Given the description of an element on the screen output the (x, y) to click on. 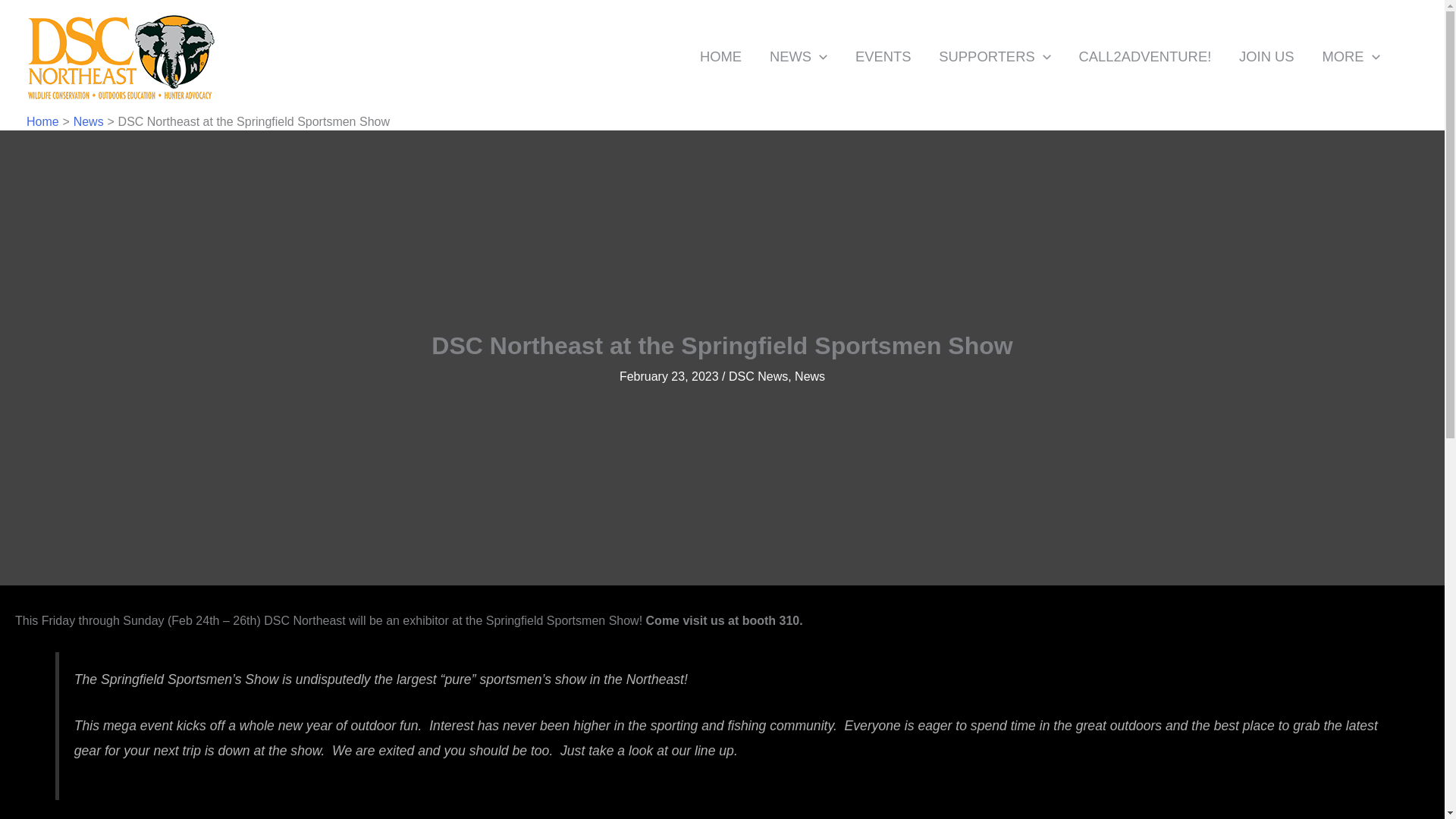
SUPPORTERS (994, 56)
JOIN US (1266, 56)
EVENTS (882, 56)
NEWS (798, 56)
HOME (720, 56)
News (88, 121)
MORE (1350, 56)
Home (42, 121)
CALL2ADVENTURE! (1144, 56)
